Given the description of an element on the screen output the (x, y) to click on. 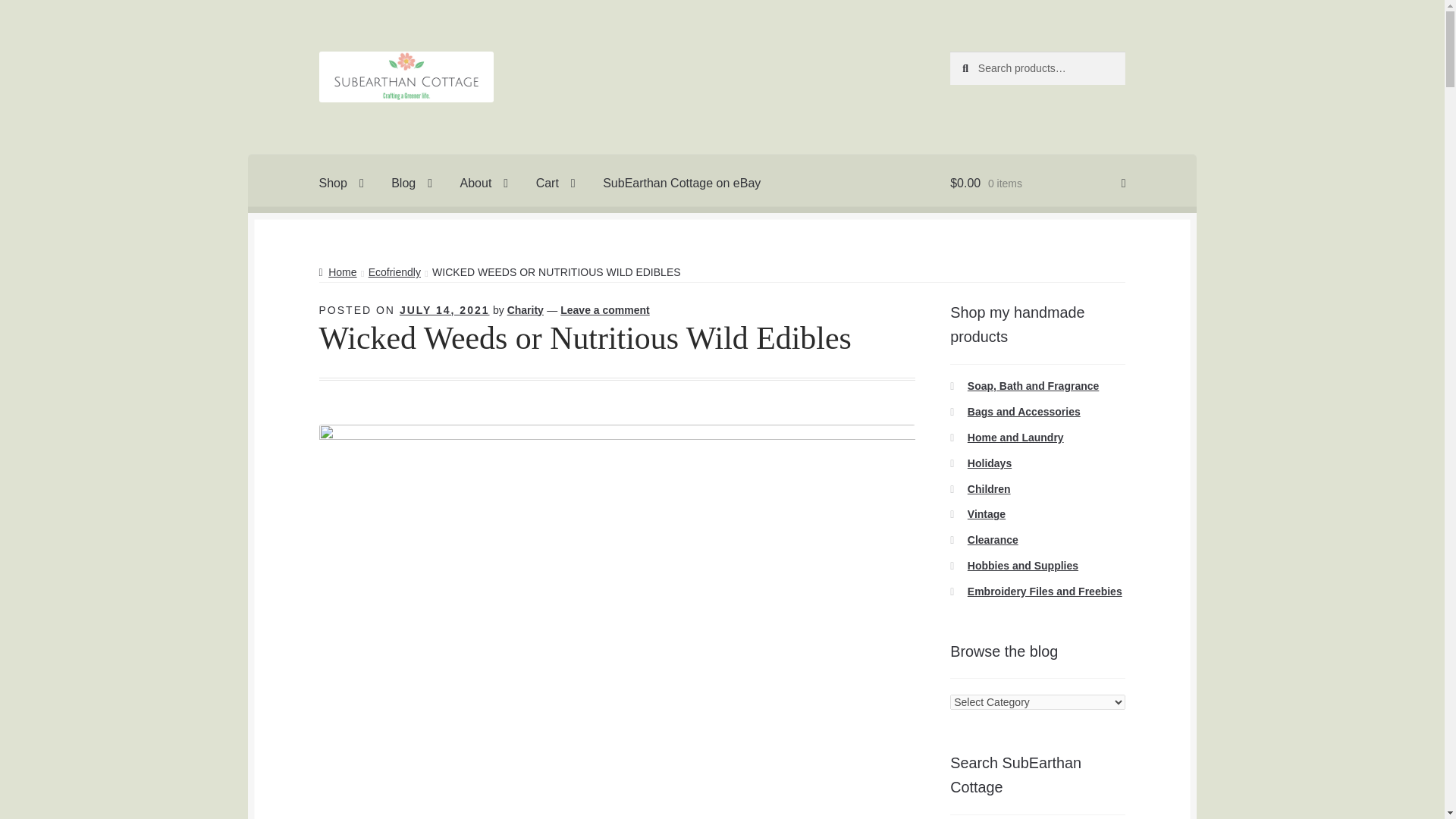
Cart (556, 182)
View your shopping cart (1037, 182)
Shop (341, 182)
Blog (411, 182)
SubEarthan Cottage on eBay (682, 182)
About (484, 182)
